Given the description of an element on the screen output the (x, y) to click on. 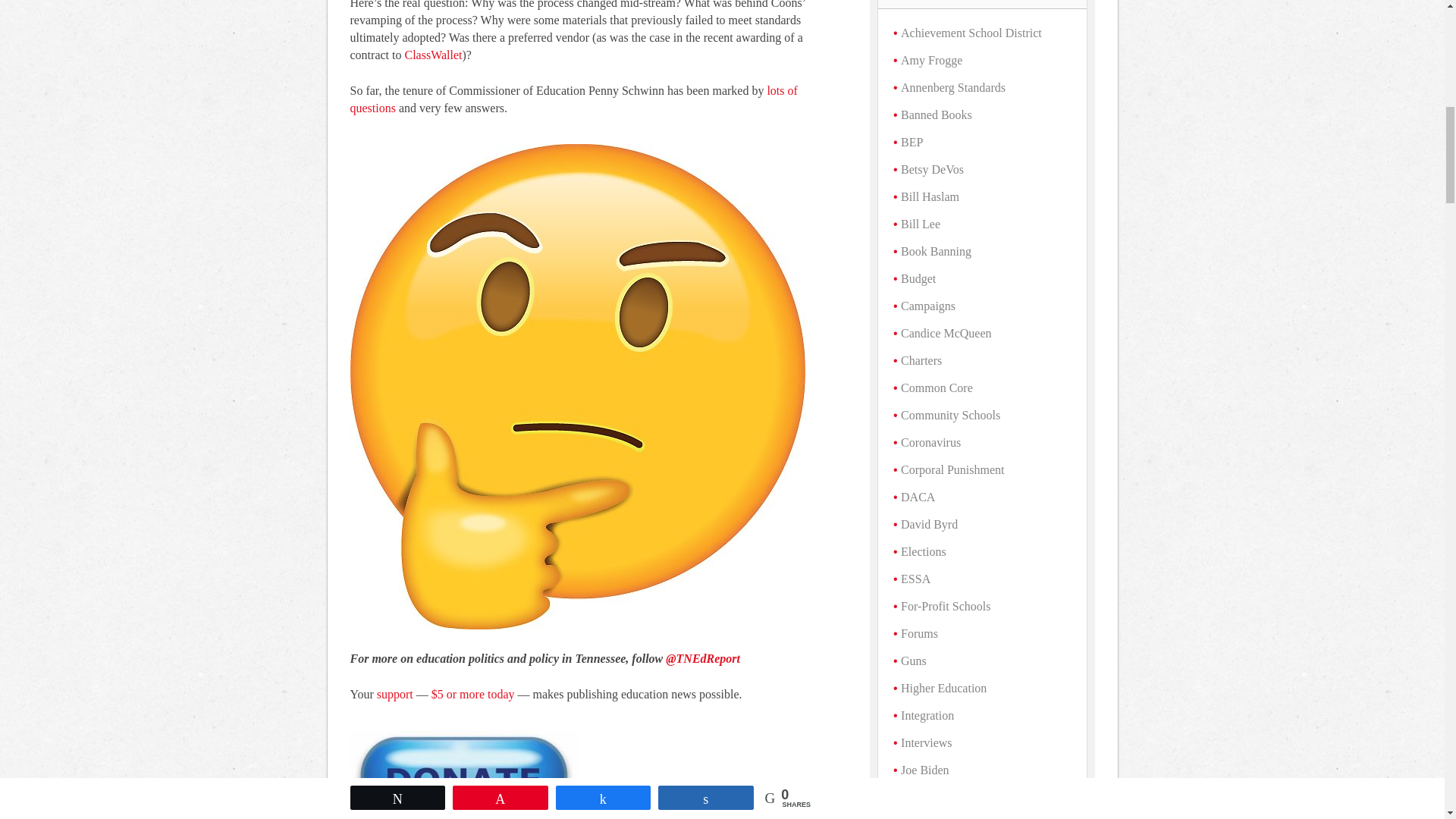
support (395, 694)
lots of questions (573, 99)
ClassWallet (432, 54)
